Given the description of an element on the screen output the (x, y) to click on. 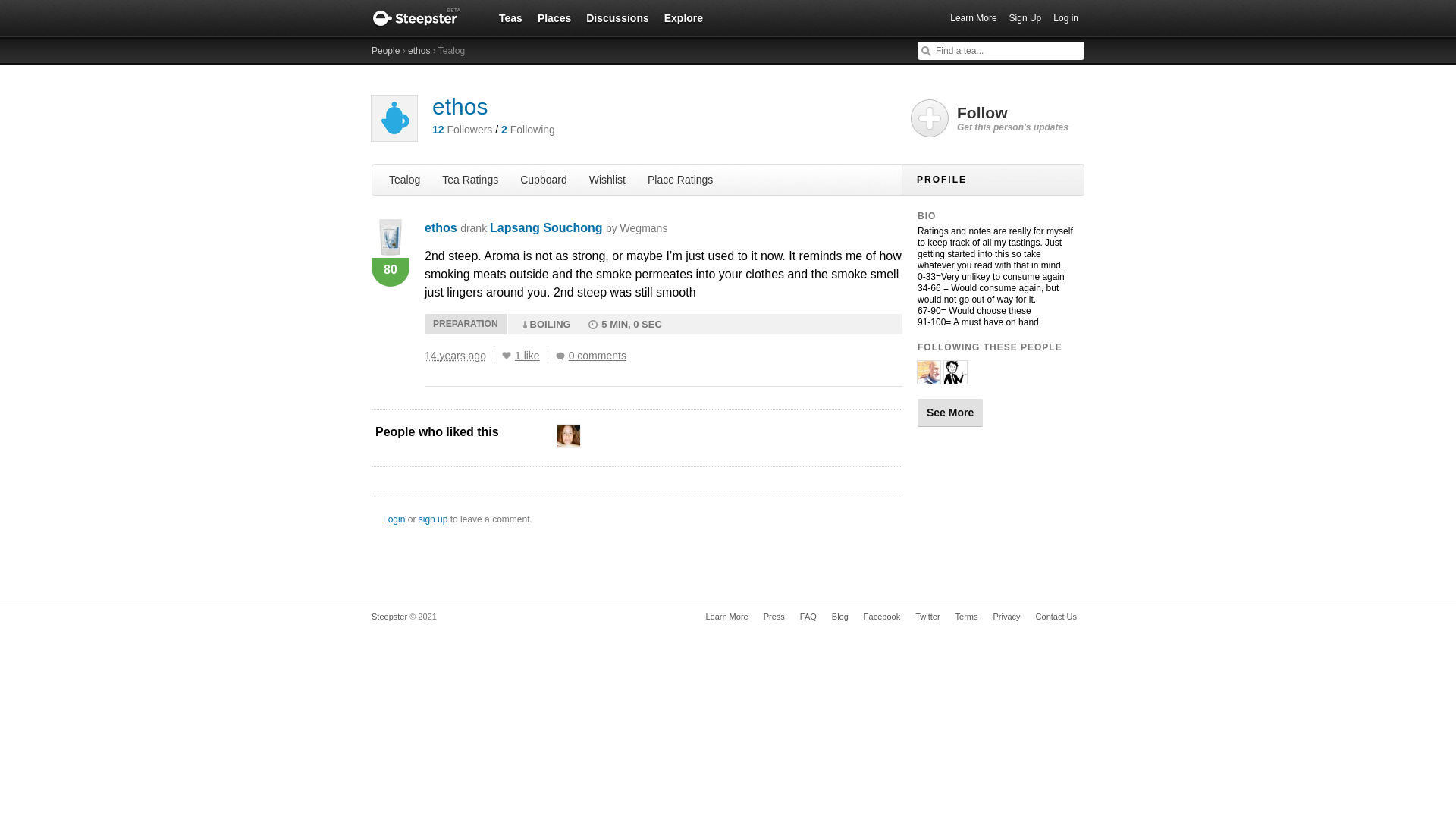
Press (773, 616)
View MisterYura's Tealog (954, 377)
FAQ (808, 616)
Learn More (726, 616)
Teas (510, 17)
Steepster (424, 18)
0 comments (594, 355)
Tea Ratings (469, 179)
Explore (683, 17)
Cupboard (543, 179)
Behind the scenes info on Steepster (773, 616)
Like This (506, 355)
Sign Up (1025, 18)
ethos (441, 227)
14 years ago (460, 355)
